Given the description of an element on the screen output the (x, y) to click on. 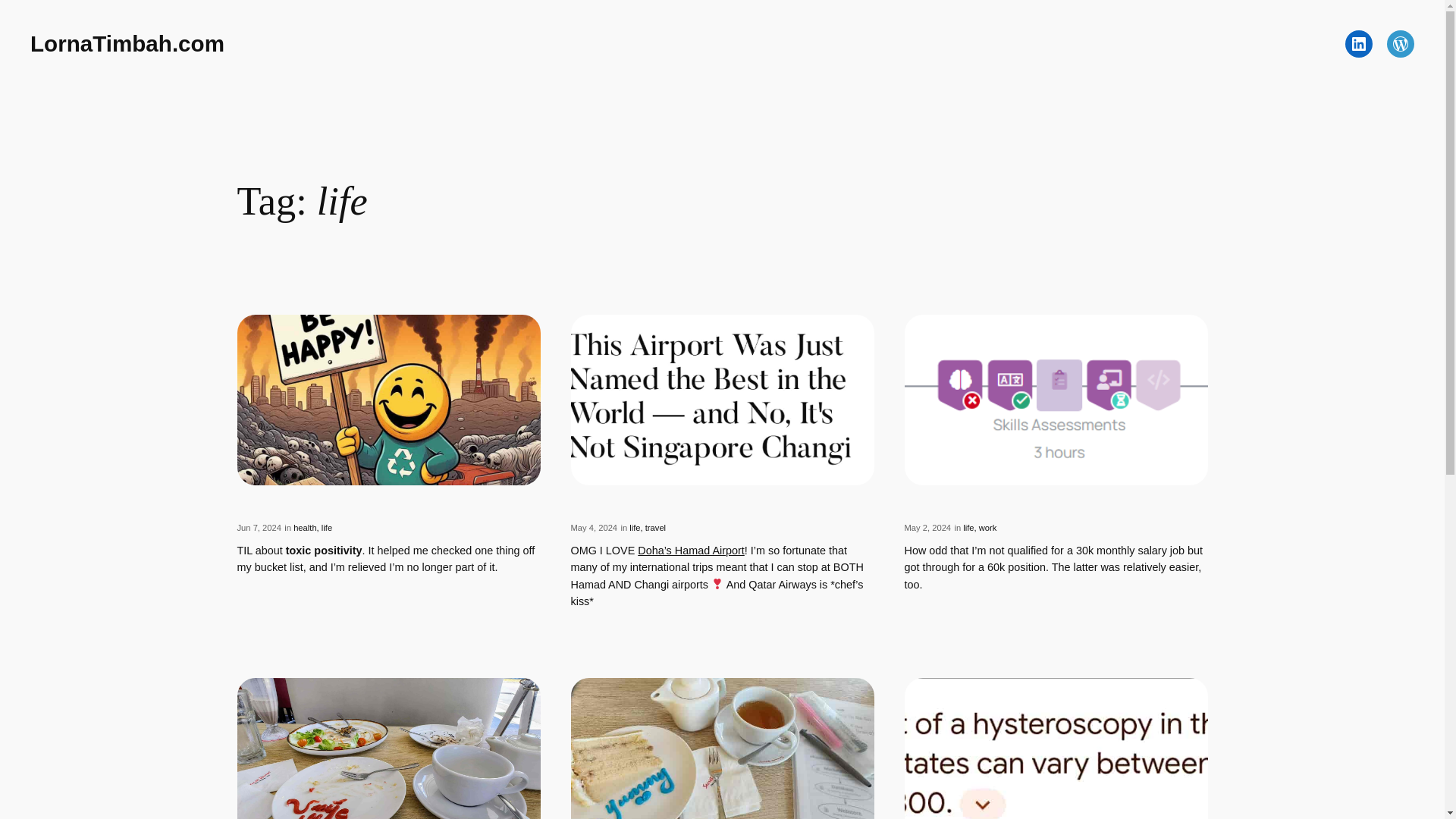
health (304, 527)
travel (655, 527)
life (326, 527)
May 2, 2024 (927, 527)
life (968, 527)
LornaTimbah.com (127, 43)
life (634, 527)
LinkedIn (1359, 43)
May 4, 2024 (593, 527)
work (987, 527)
Jun 7, 2024 (258, 527)
WordPress (1400, 43)
